Given the description of an element on the screen output the (x, y) to click on. 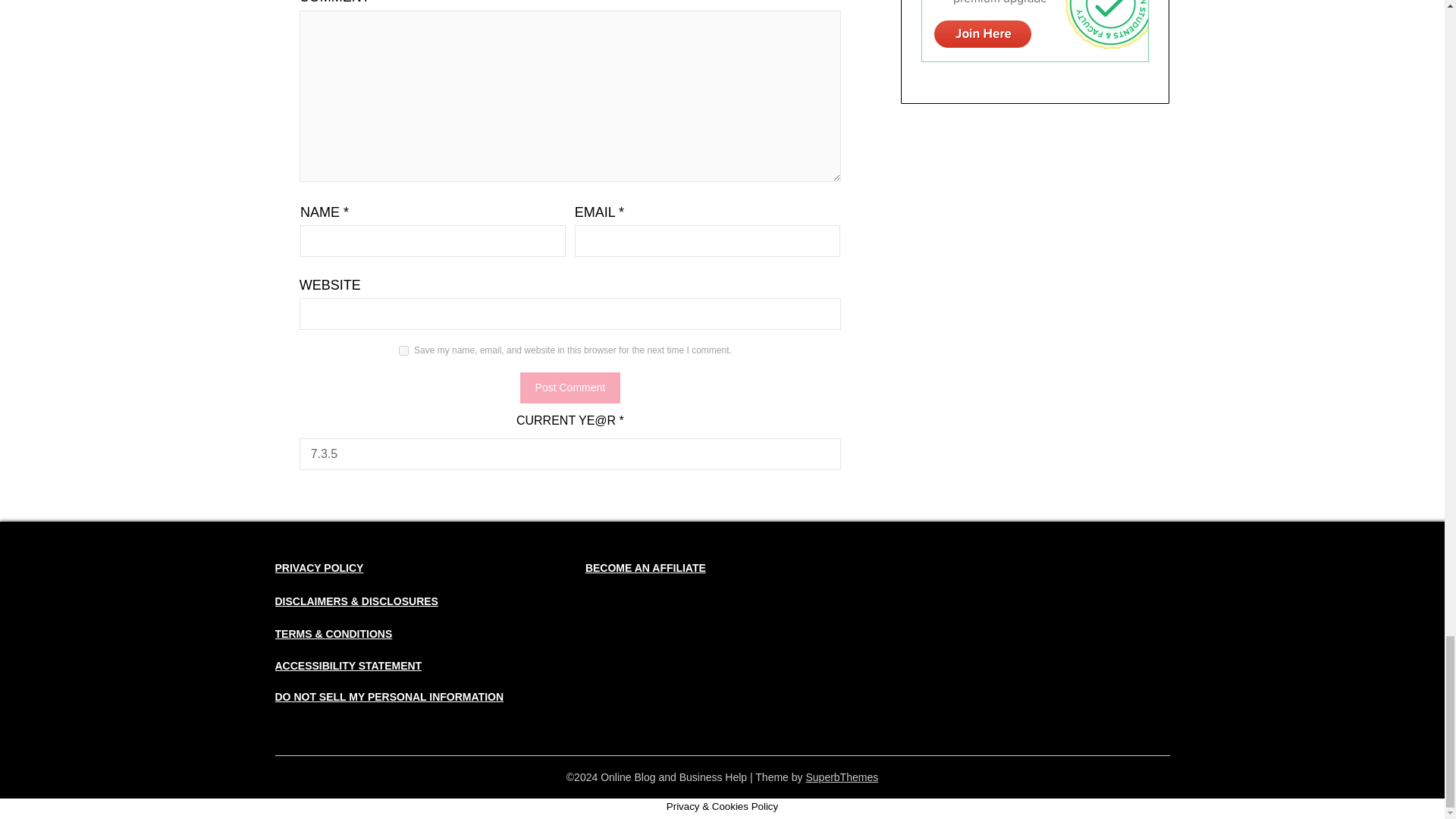
Post Comment (570, 387)
7.3.5 (570, 454)
yes (403, 350)
PRIVACY POLICY (318, 567)
Post Comment (570, 387)
